Given the description of an element on the screen output the (x, y) to click on. 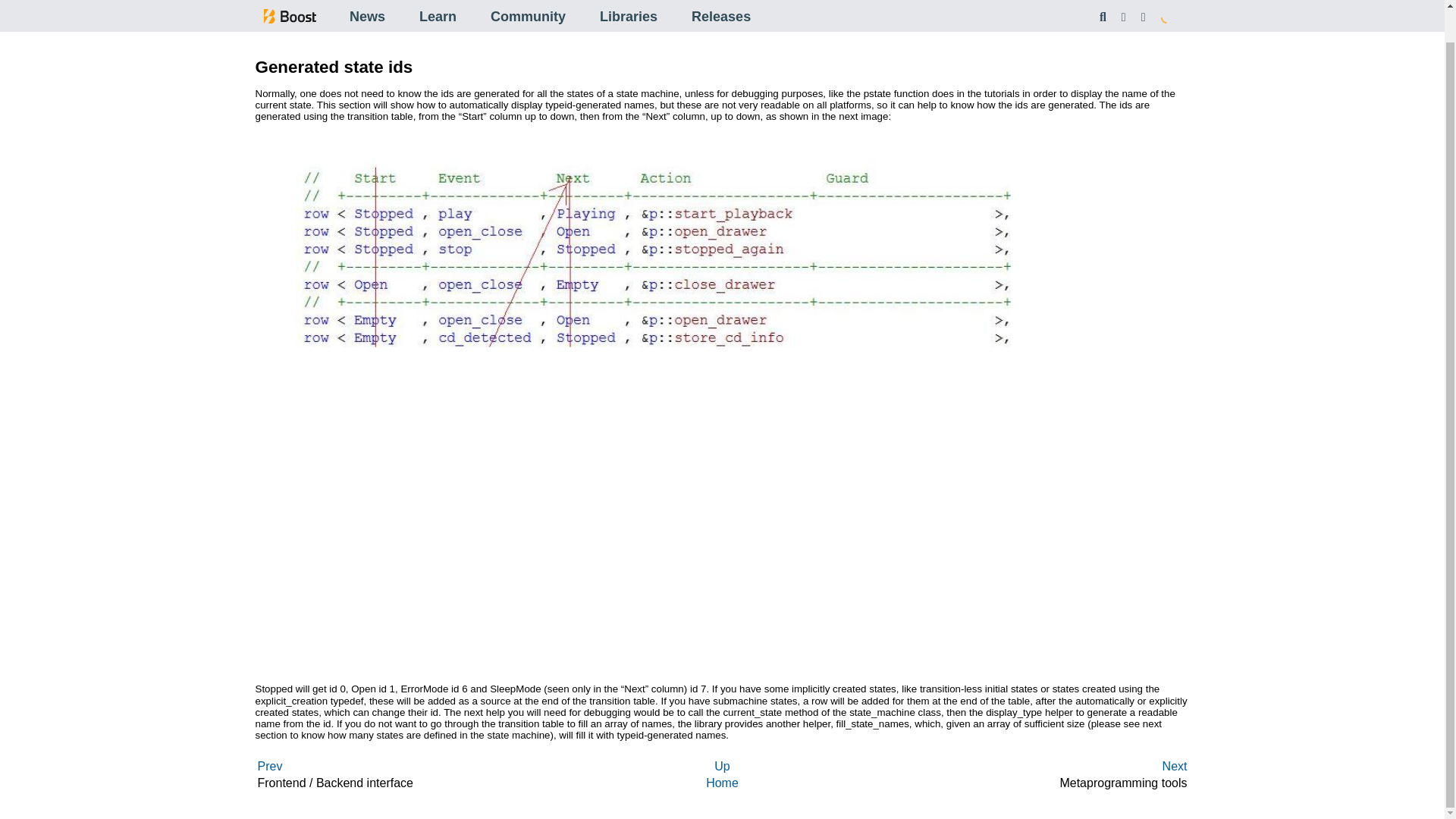
Next (1174, 24)
Prev (269, 24)
Up (721, 766)
Home (722, 782)
Prev (269, 766)
Next (1174, 766)
